Given the description of an element on the screen output the (x, y) to click on. 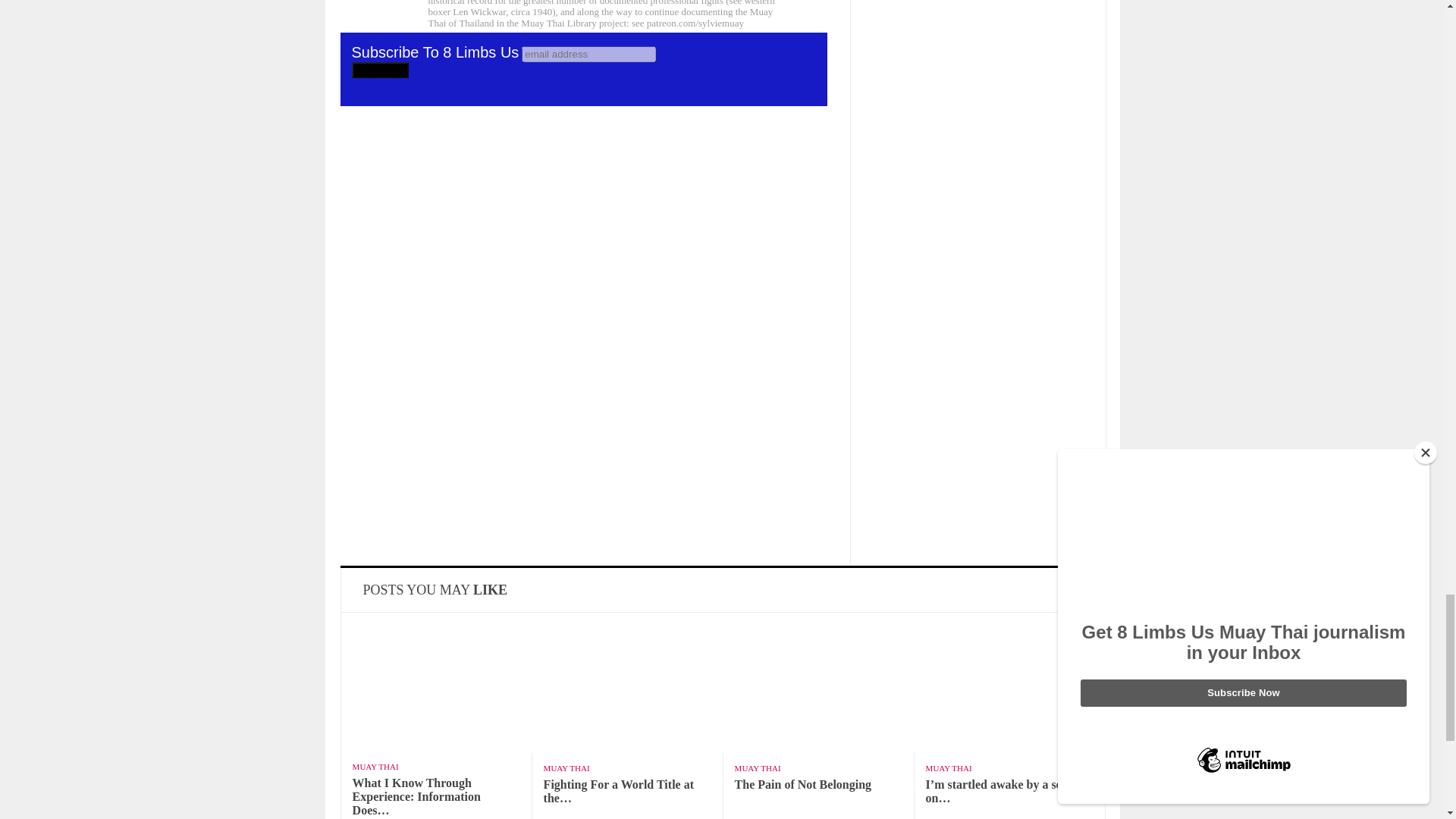
Subscribe (380, 69)
